Given the description of an element on the screen output the (x, y) to click on. 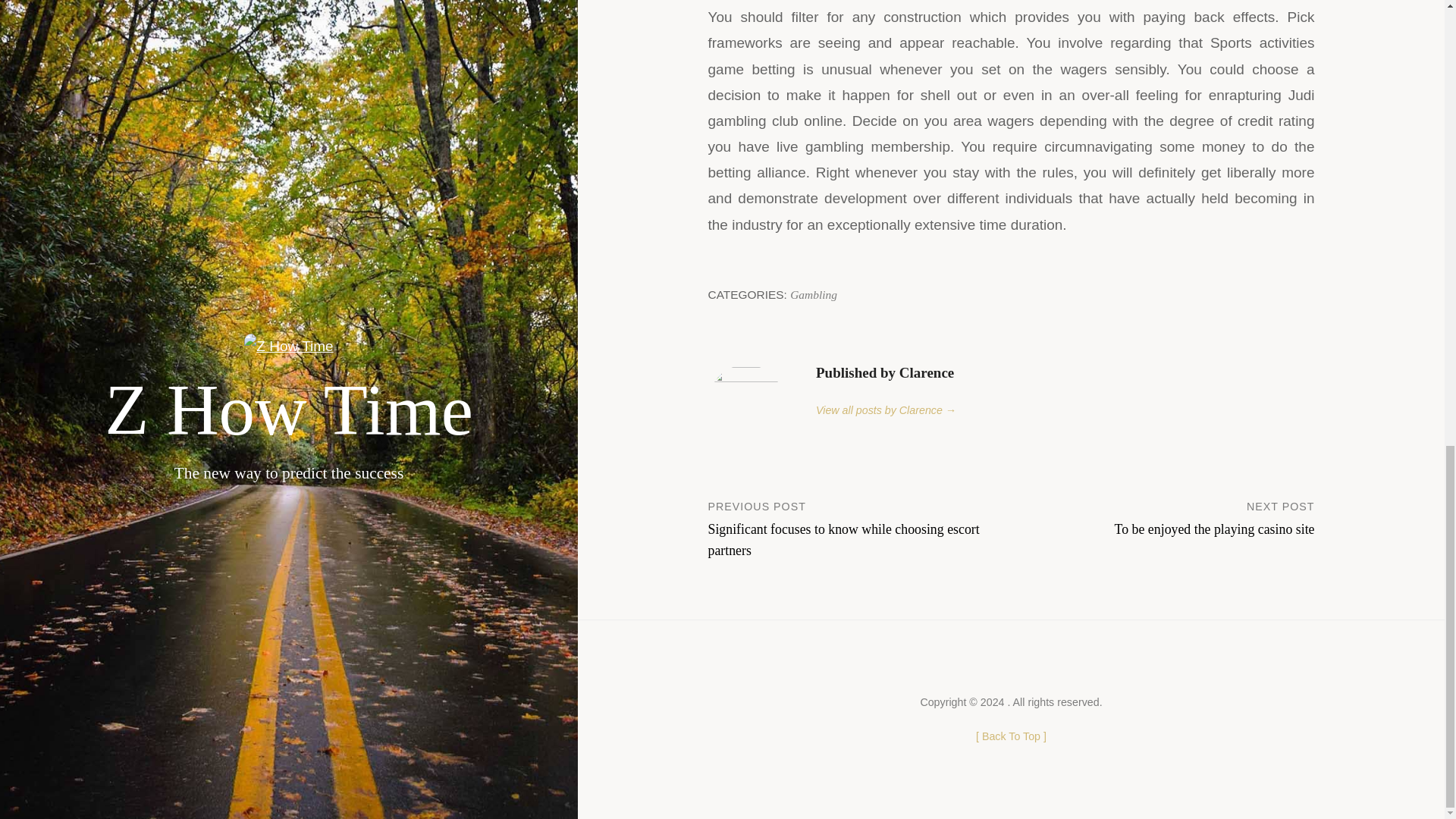
Gambling (1162, 517)
Back To Top (813, 294)
